Given the description of an element on the screen output the (x, y) to click on. 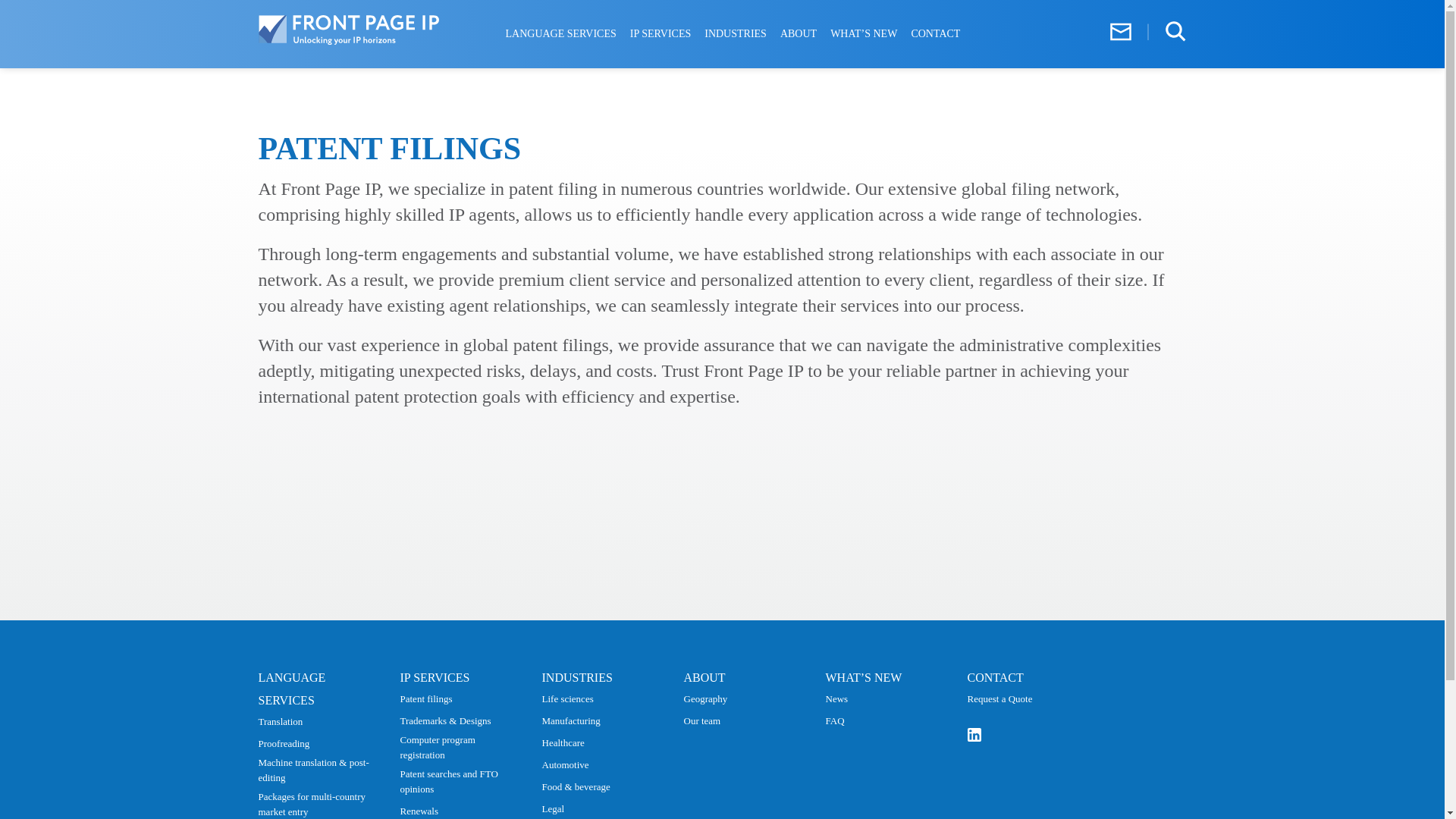
LANGUAGE SERVICES (290, 688)
LANGUAGE SERVICES (560, 33)
Translation (279, 721)
IP SERVICES (660, 33)
INDUSTRIES (735, 33)
Proofreading (282, 743)
